Given the description of an element on the screen output the (x, y) to click on. 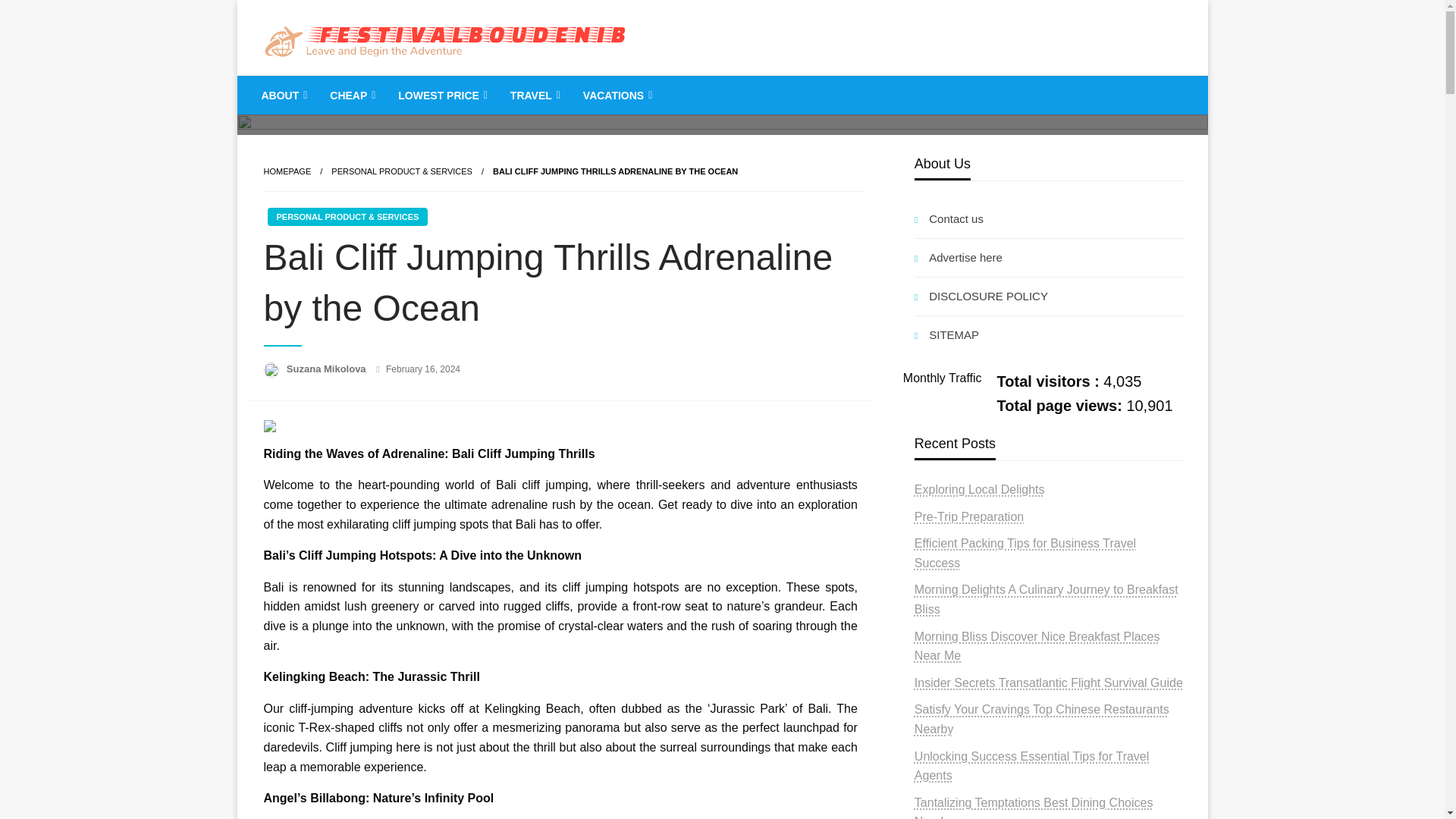
FESTIVALBOUDENIB (413, 87)
Homepage (287, 171)
Bali Cliff Jumping Thrills Adrenaline by the Ocean (615, 171)
CHEAP (351, 95)
ABOUT (282, 95)
February 16, 2024 (422, 368)
VACATIONS (616, 95)
HOMEPAGE (287, 171)
LOWEST PRICE (441, 95)
TRAVEL (533, 95)
Suzana Mikolova (327, 368)
Suzana Mikolova (327, 368)
